Given the description of an element on the screen output the (x, y) to click on. 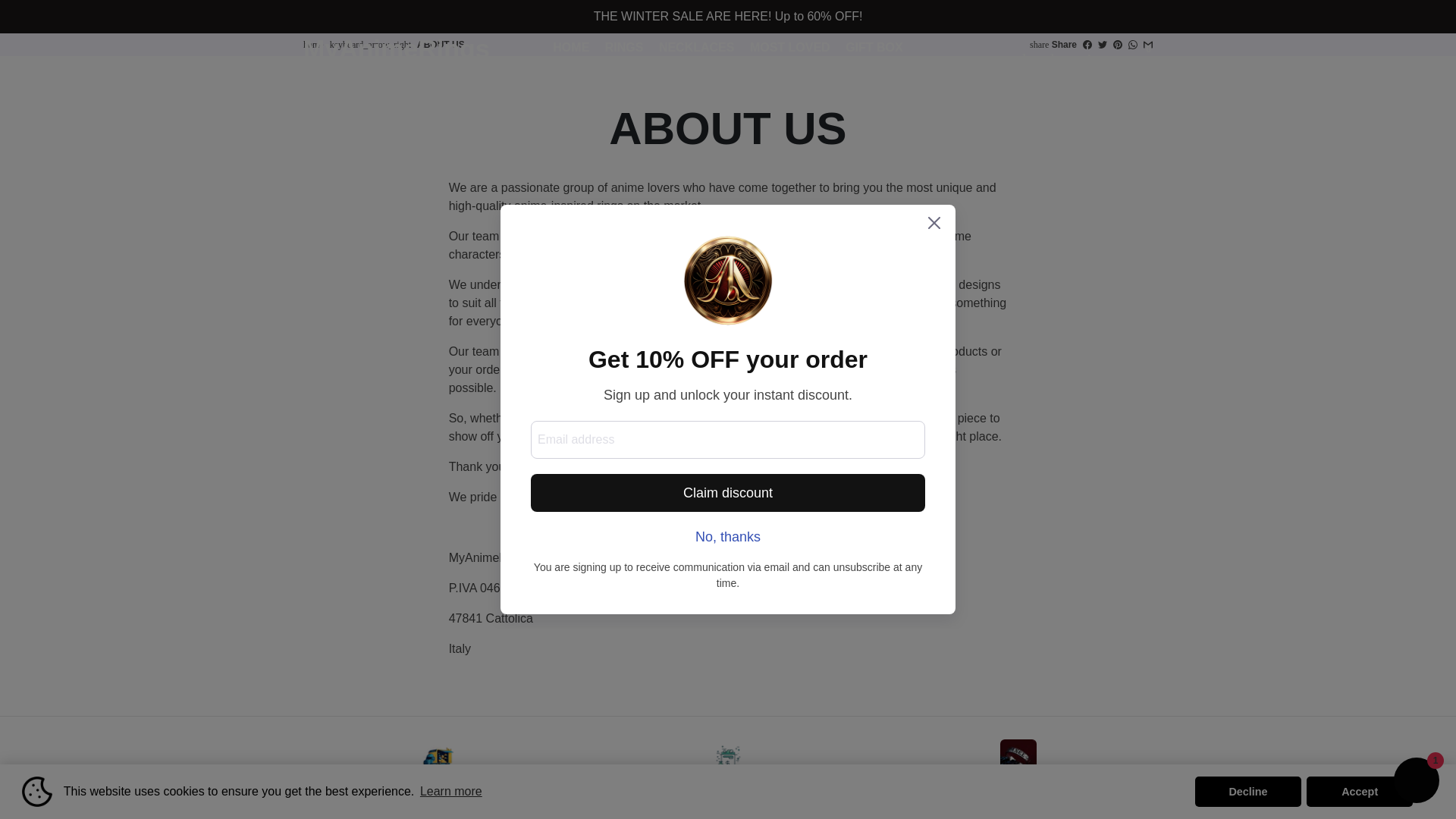
Shopify online store chat (1416, 781)
Search (1007, 59)
CONTACT US (767, 70)
Learn more (450, 791)
Cart (1094, 59)
GIFT BOX (874, 46)
MyAnimeRings (395, 59)
RINGS (623, 46)
search (1007, 59)
NECKLACES (696, 46)
MOST LOVED (789, 46)
HOME (571, 46)
Accept (1359, 791)
Myanimerings (312, 44)
